Given the description of an element on the screen output the (x, y) to click on. 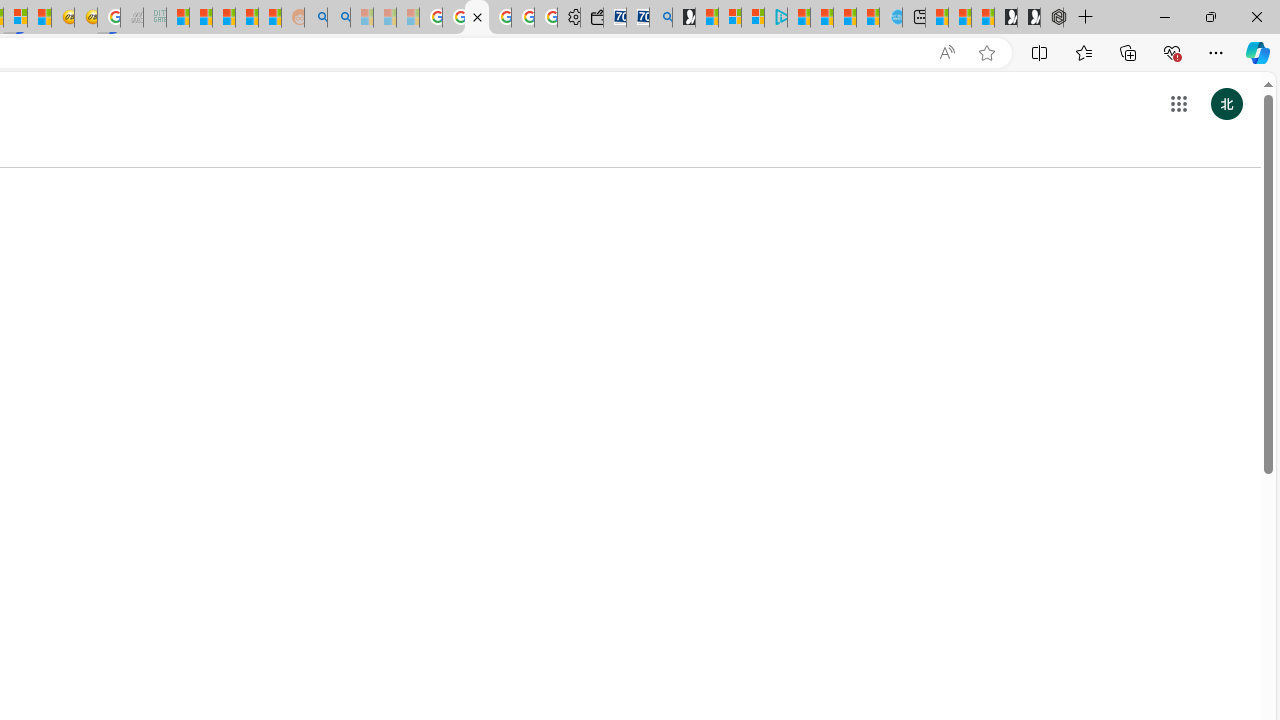
Wallet (591, 17)
Class: gb_E (1178, 103)
